Given the description of an element on the screen output the (x, y) to click on. 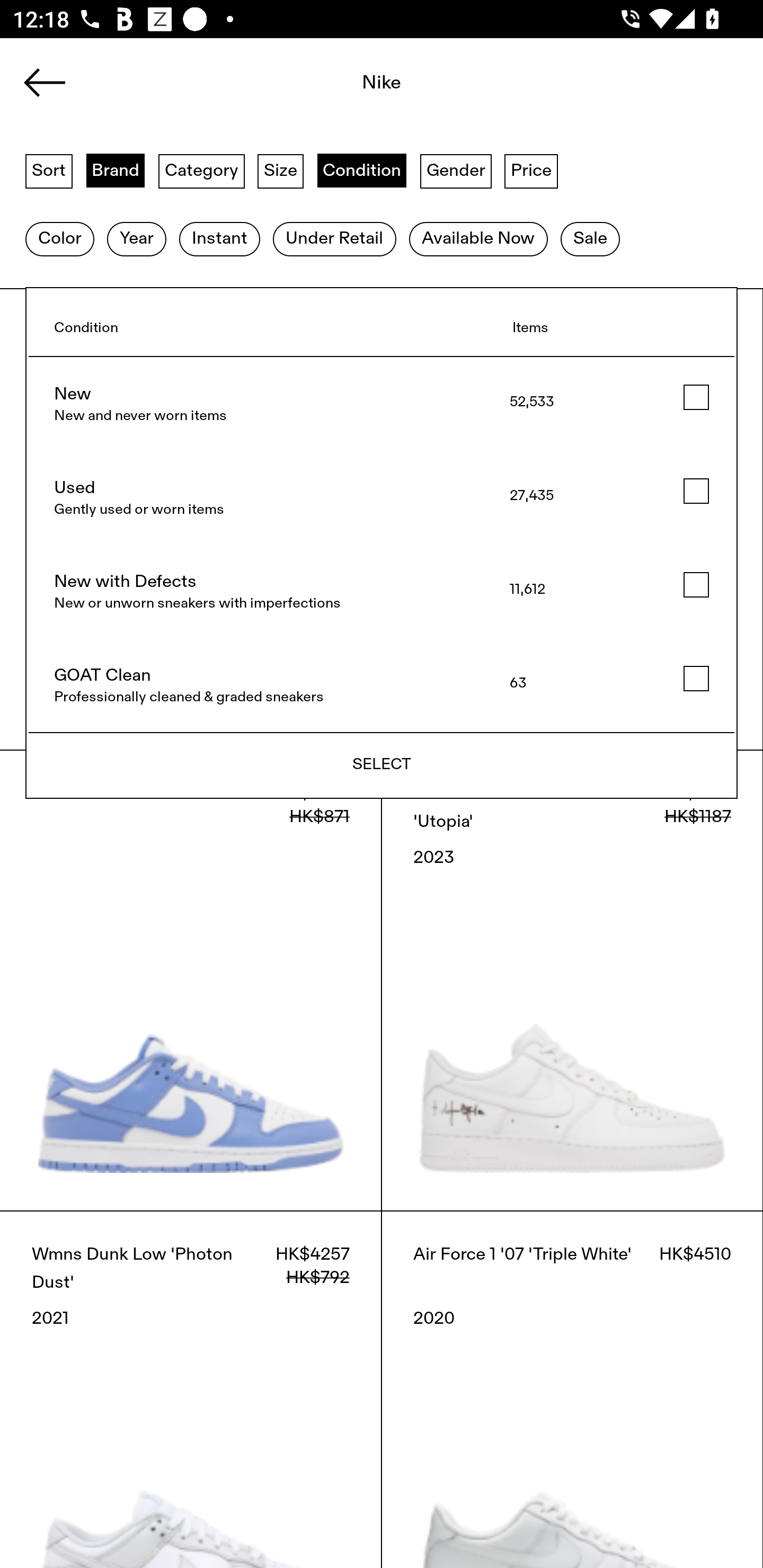
Sort (48, 170)
Brand (115, 170)
Category (201, 170)
Size (280, 170)
Condition (361, 170)
Gender (455, 170)
Price (530, 170)
Color (59, 239)
Year (136, 239)
Instant (219, 239)
Under Retail (334, 239)
Available Now (477, 239)
Sale (589, 239)
New New and never worn items 52,533 (381, 404)
Used Gently used or worn items 27,435 (381, 497)
Dunk Low 'Polar Blue' HK$4573 HK$871 (190, 979)
Wmns Dunk Low 'Photon Dust' HK$4257 HK$792 2021 (190, 1389)
Air Force 1 '07 'Triple White' HK$4510 2020 (572, 1389)
